Given the description of an element on the screen output the (x, y) to click on. 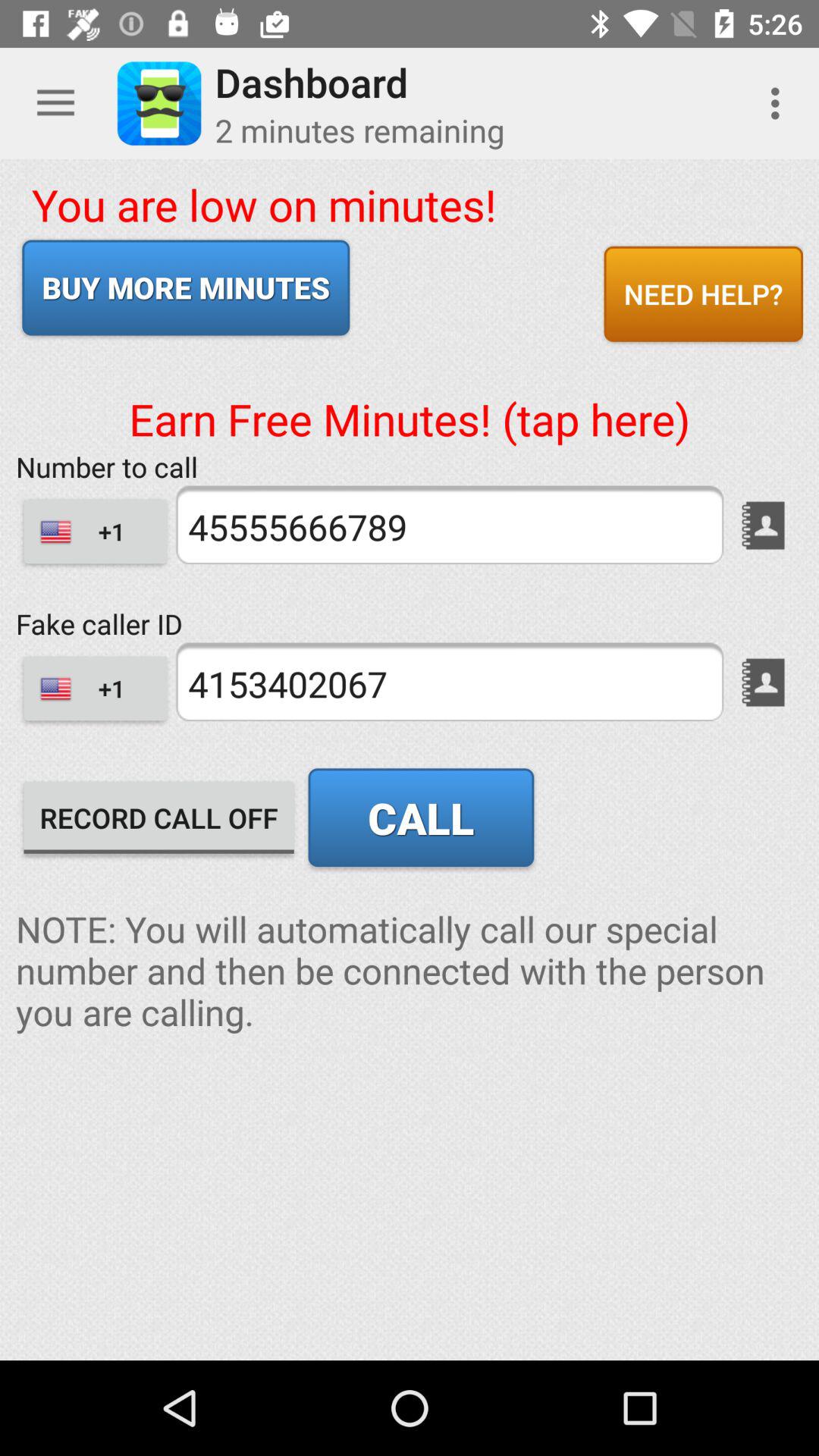
open icon above earn free minutes (185, 287)
